Given the description of an element on the screen output the (x, y) to click on. 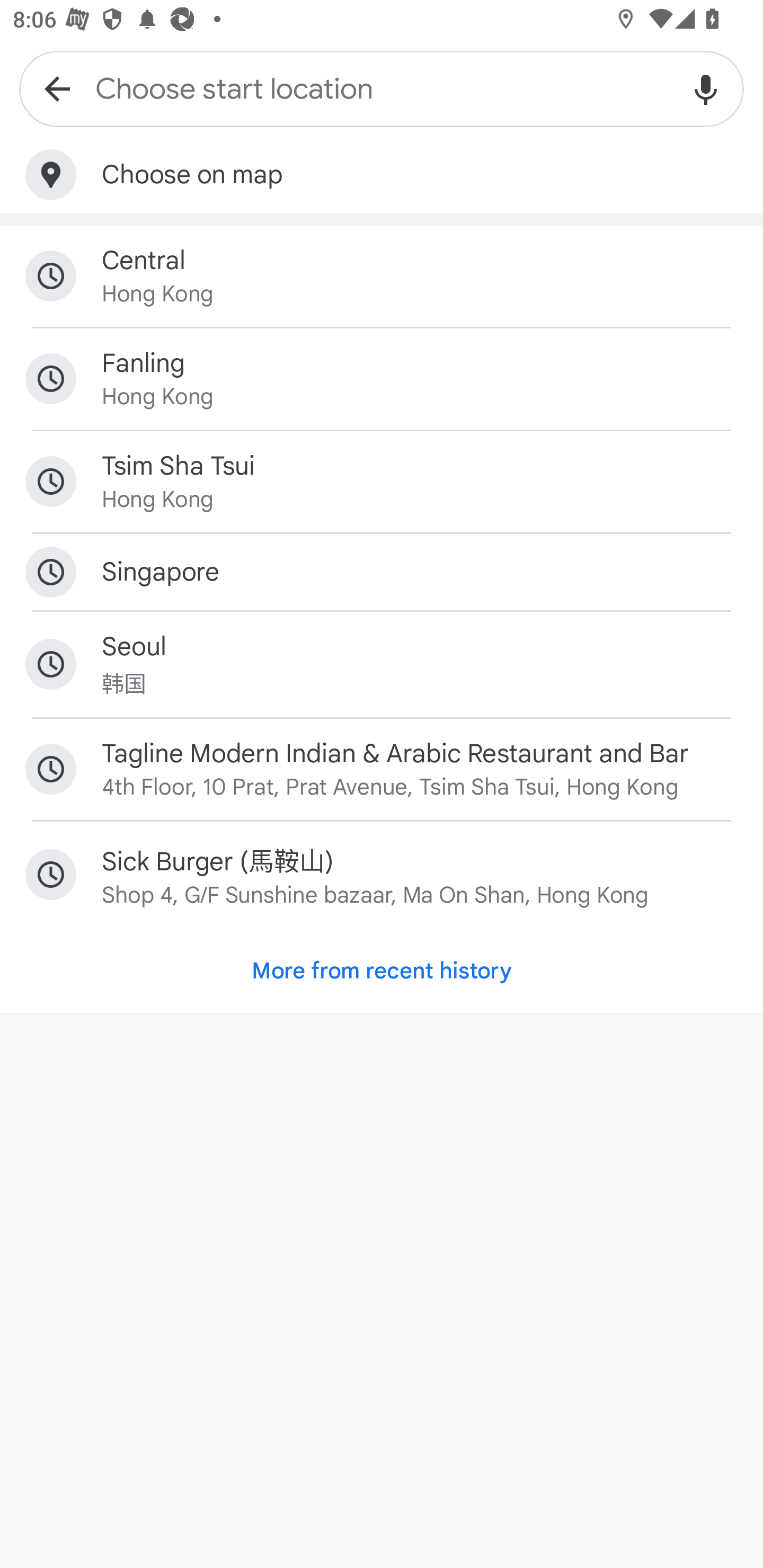
Navigate up (57, 88)
Choose start location (381, 88)
Voice search (705, 88)
Choose on map (381, 174)
Central Hong Kong (381, 275)
Fanling Hong Kong (381, 378)
Tsim Sha Tsui Hong Kong (381, 482)
Singapore (381, 571)
Seoul 韩国 (381, 663)
More from recent history (381, 970)
